Given the description of an element on the screen output the (x, y) to click on. 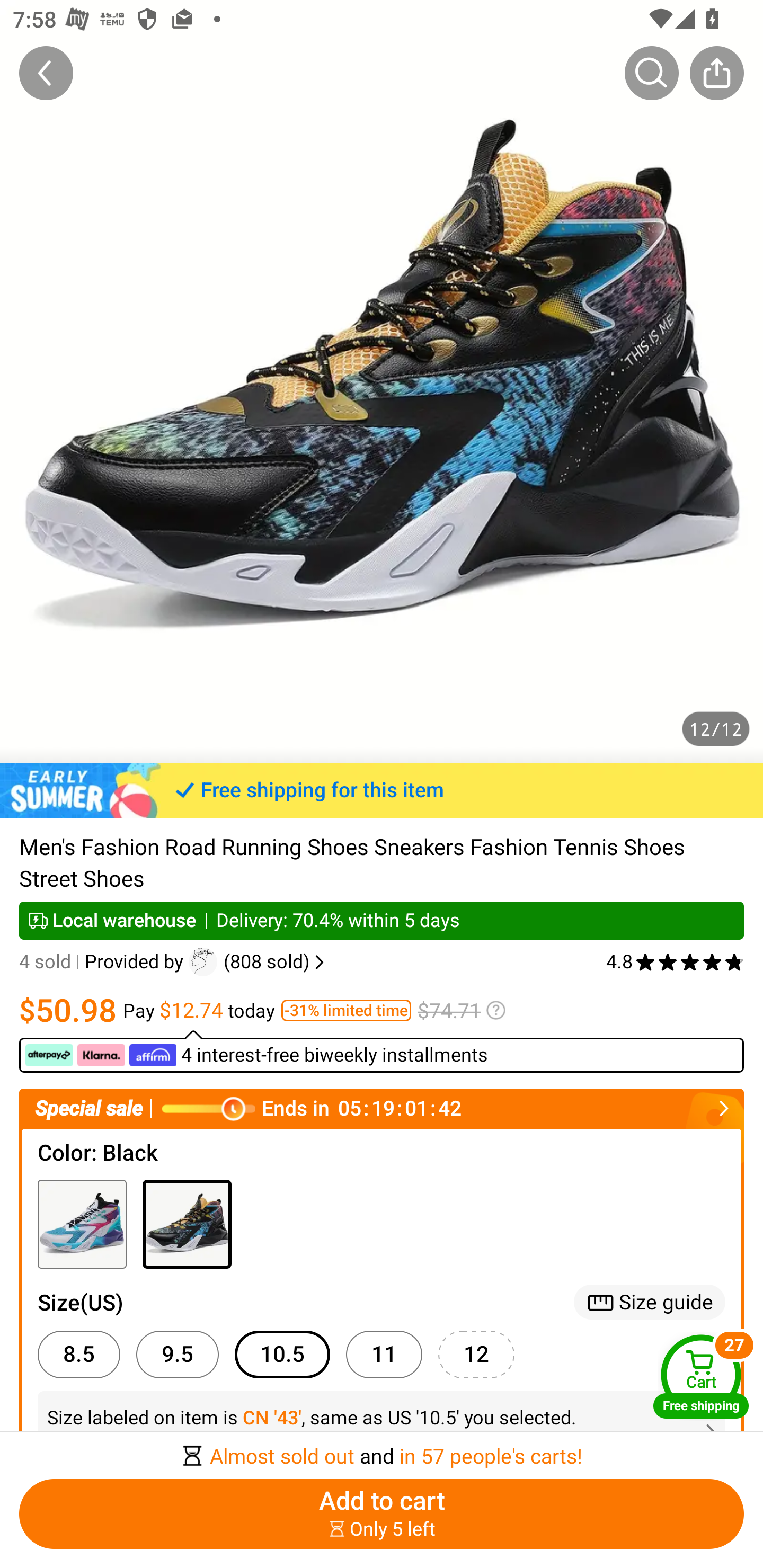
Back (46, 72)
Share (716, 72)
Free shipping for this item (381, 790)
Local warehouse Delivery: 70.4% within 5 days (381, 920)
4 sold Provided by  (103, 961)
4.8 (674, 961)
￼ ￼ ￼ 4 interest-free biweekly installments (381, 1051)
Special sale Ends in￼￼ (381, 1108)
White Blue (81, 1223)
Black (186, 1223)
 Size guide (649, 1302)
8.5 (78, 1354)
9.5 (176, 1354)
10.5 (282, 1354)
11 (383, 1354)
12 (475, 1354)
Cart Free shipping Cart (701, 1375)
Add to cart ￼￼Only 5 left (381, 1513)
